Given the description of an element on the screen output the (x, y) to click on. 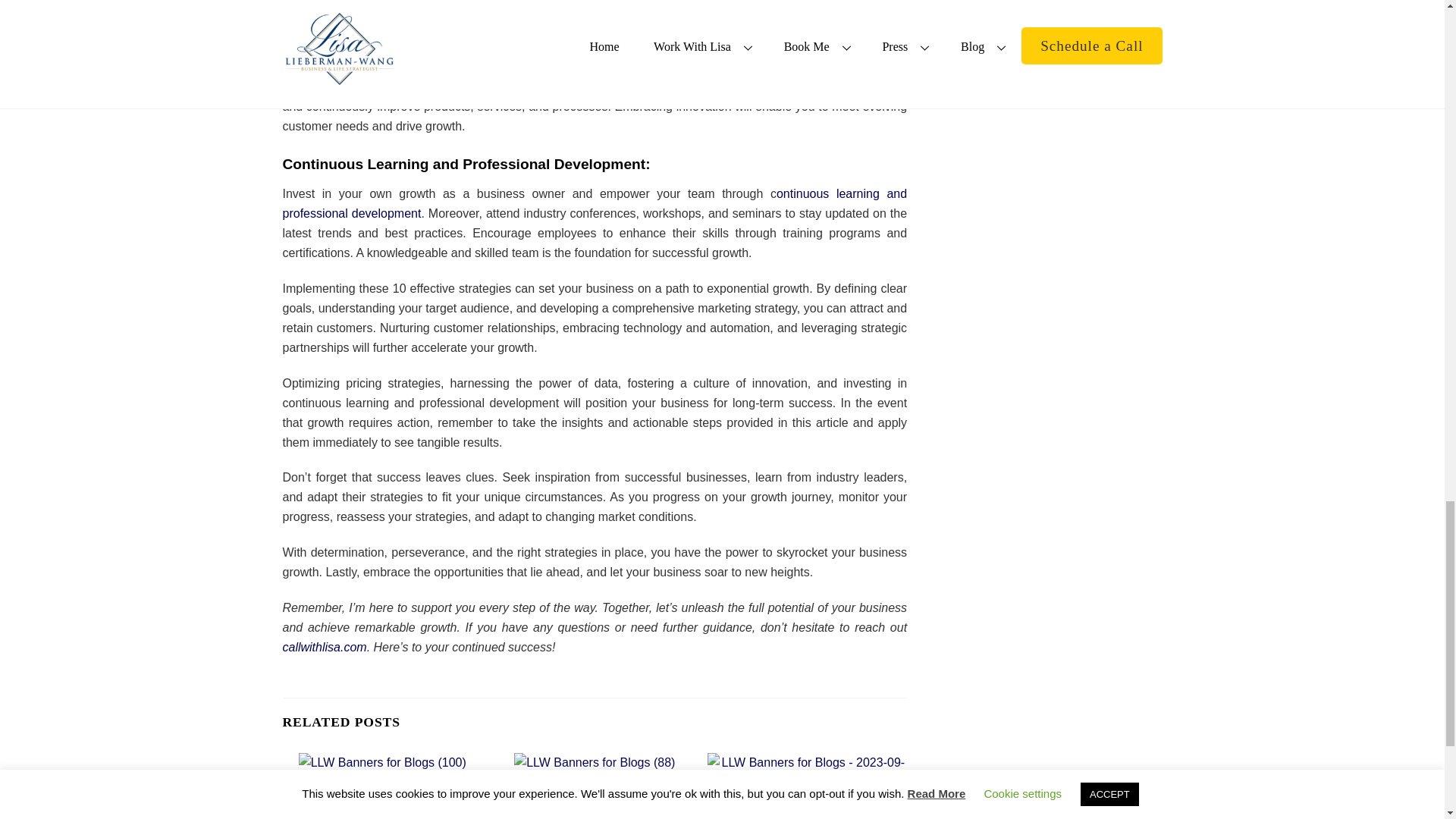
ontinuous learning and professional development (594, 203)
LLW Banners for Blogs - 2023-09-23T030452.084 (807, 772)
callwithlisa.com (324, 646)
